Given the description of an element on the screen output the (x, y) to click on. 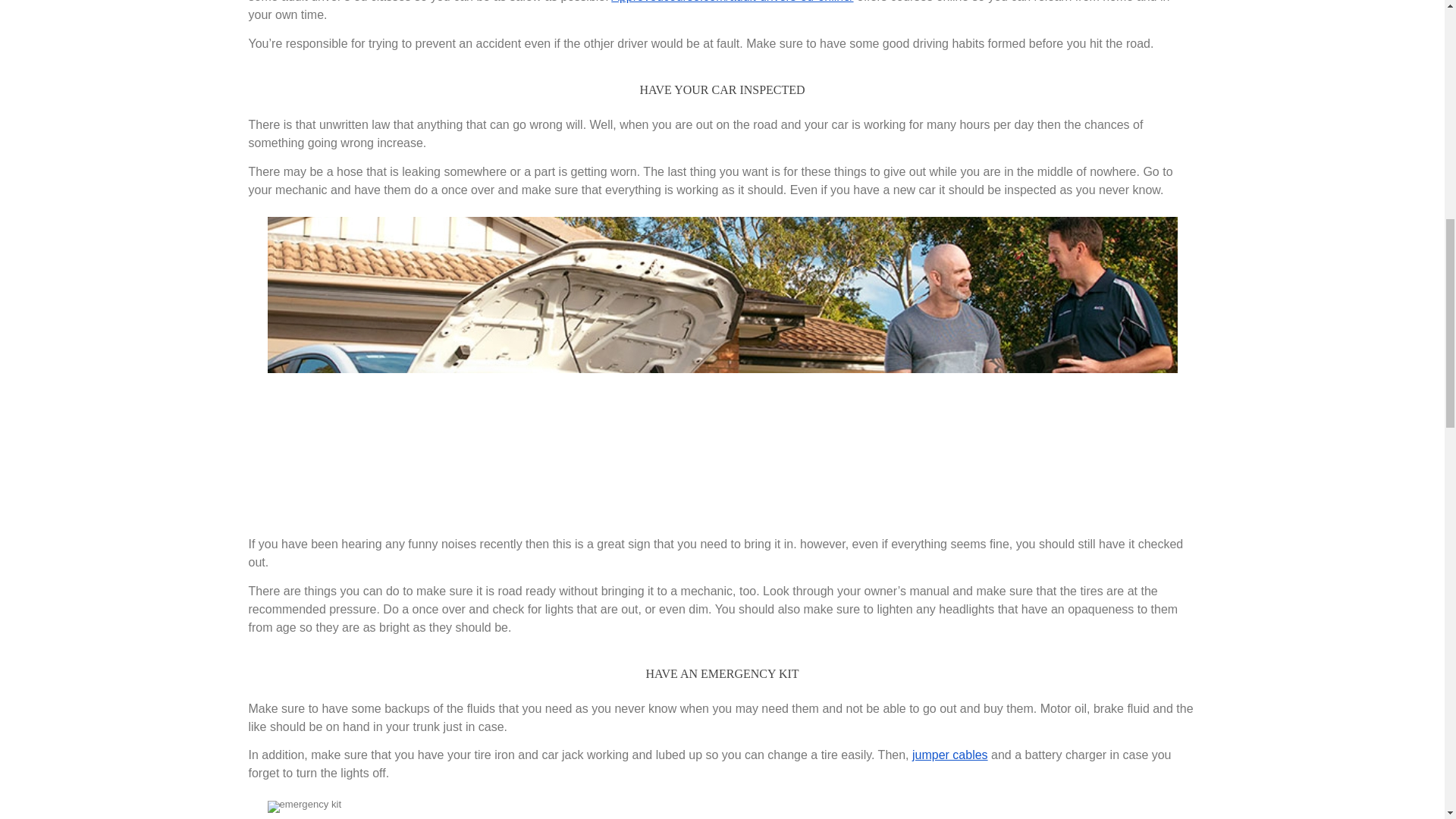
jumper cables (950, 754)
